Given the description of an element on the screen output the (x, y) to click on. 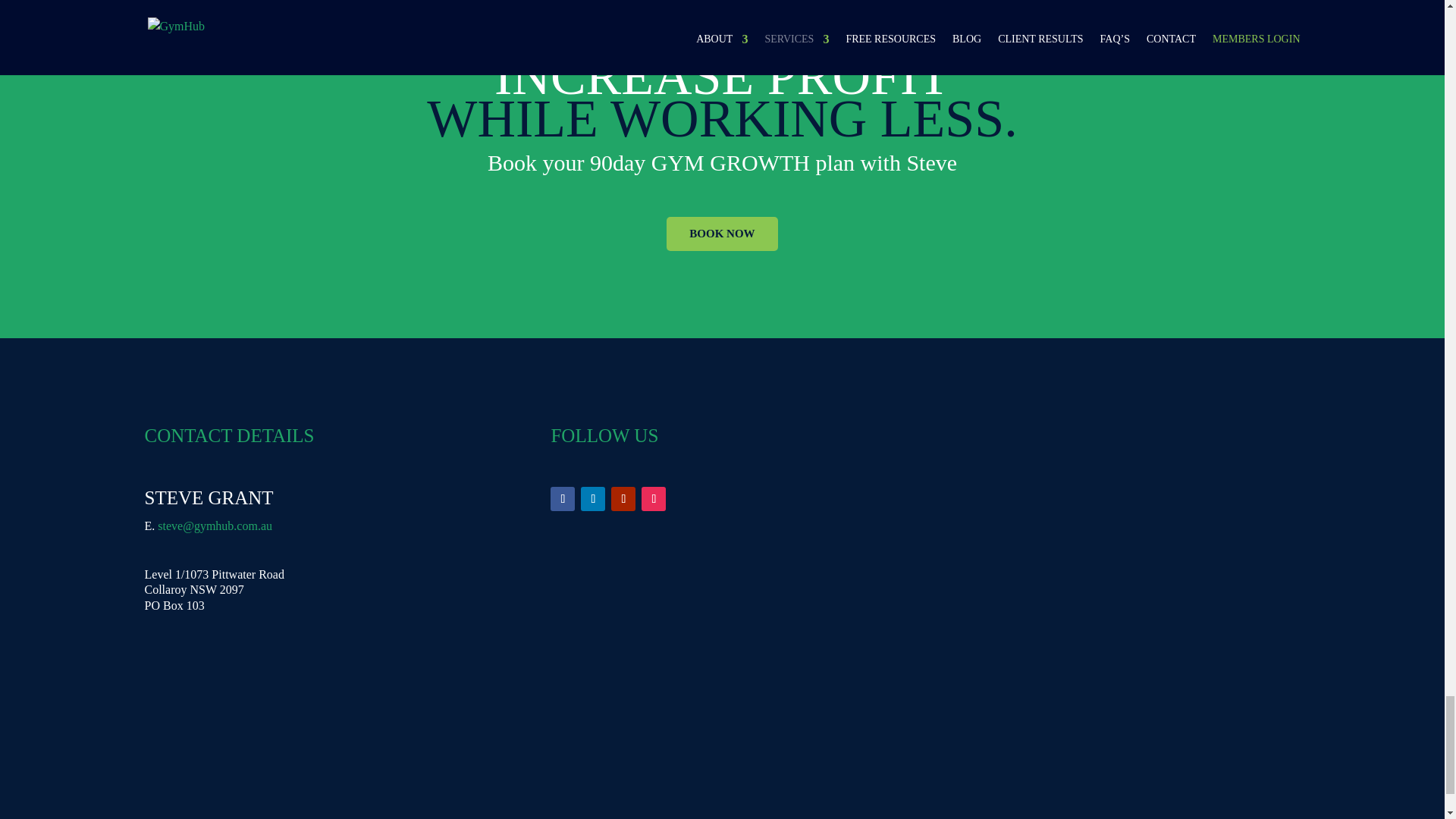
BOOK NOW (721, 234)
Follow on Youtube (622, 498)
Follow on LinkedIn (592, 498)
Follow on Facebook (562, 498)
Follow on Instagram (653, 498)
